Given the description of an element on the screen output the (x, y) to click on. 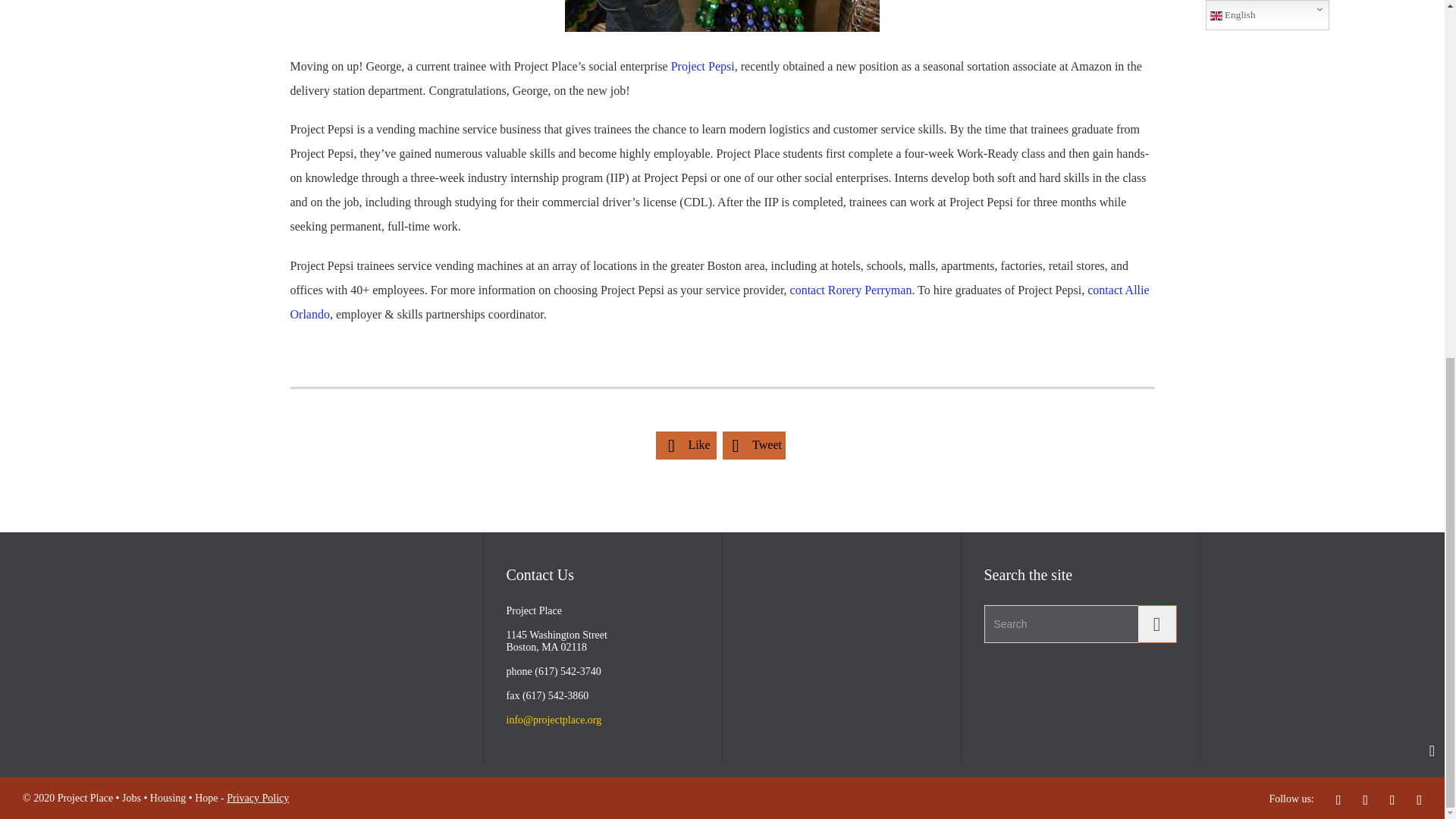
Search (1156, 624)
